Given the description of an element on the screen output the (x, y) to click on. 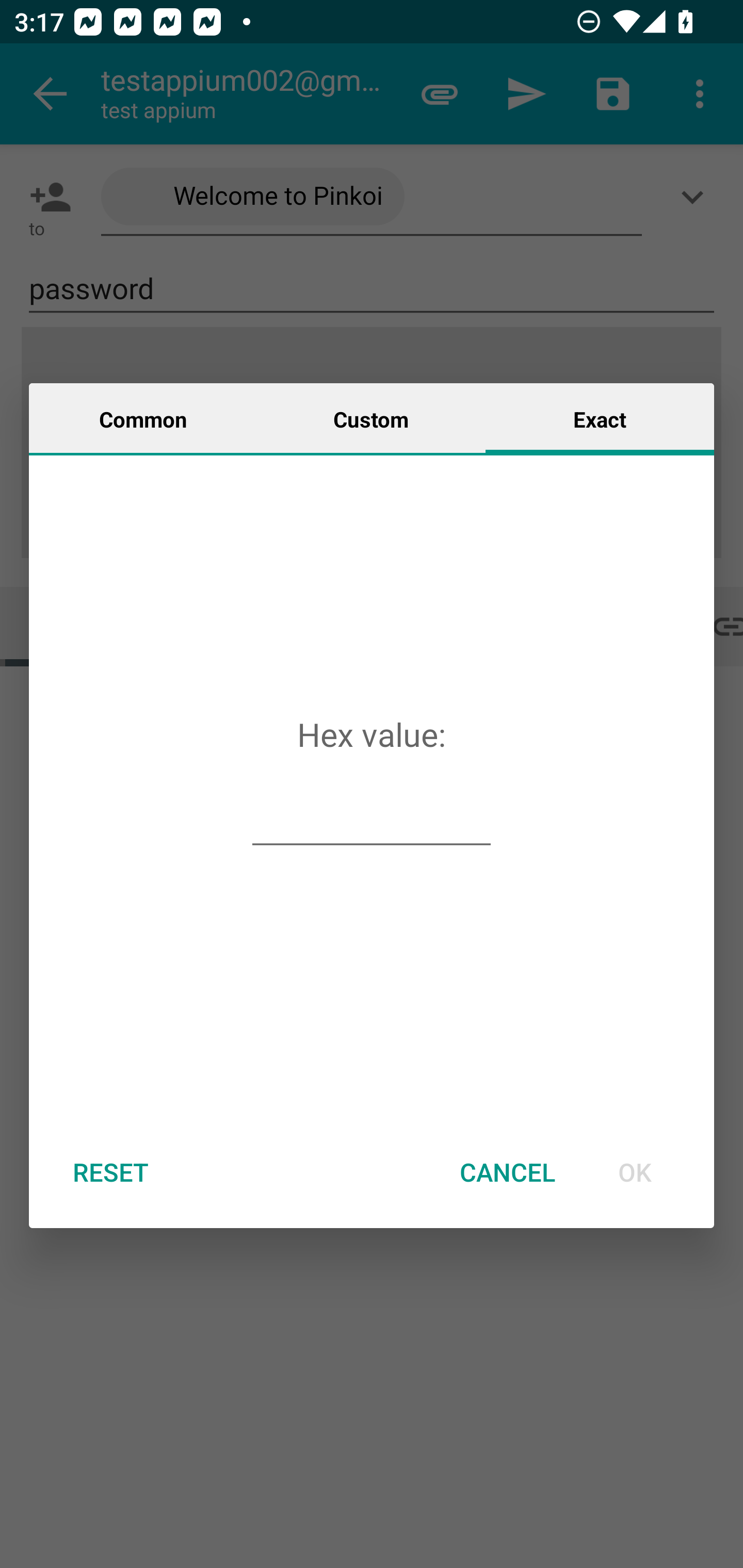
Common (142, 418)
Custom (371, 418)
Exact (599, 418)
RESET (110, 1171)
CANCEL (507, 1171)
OK (634, 1171)
